Given the description of an element on the screen output the (x, y) to click on. 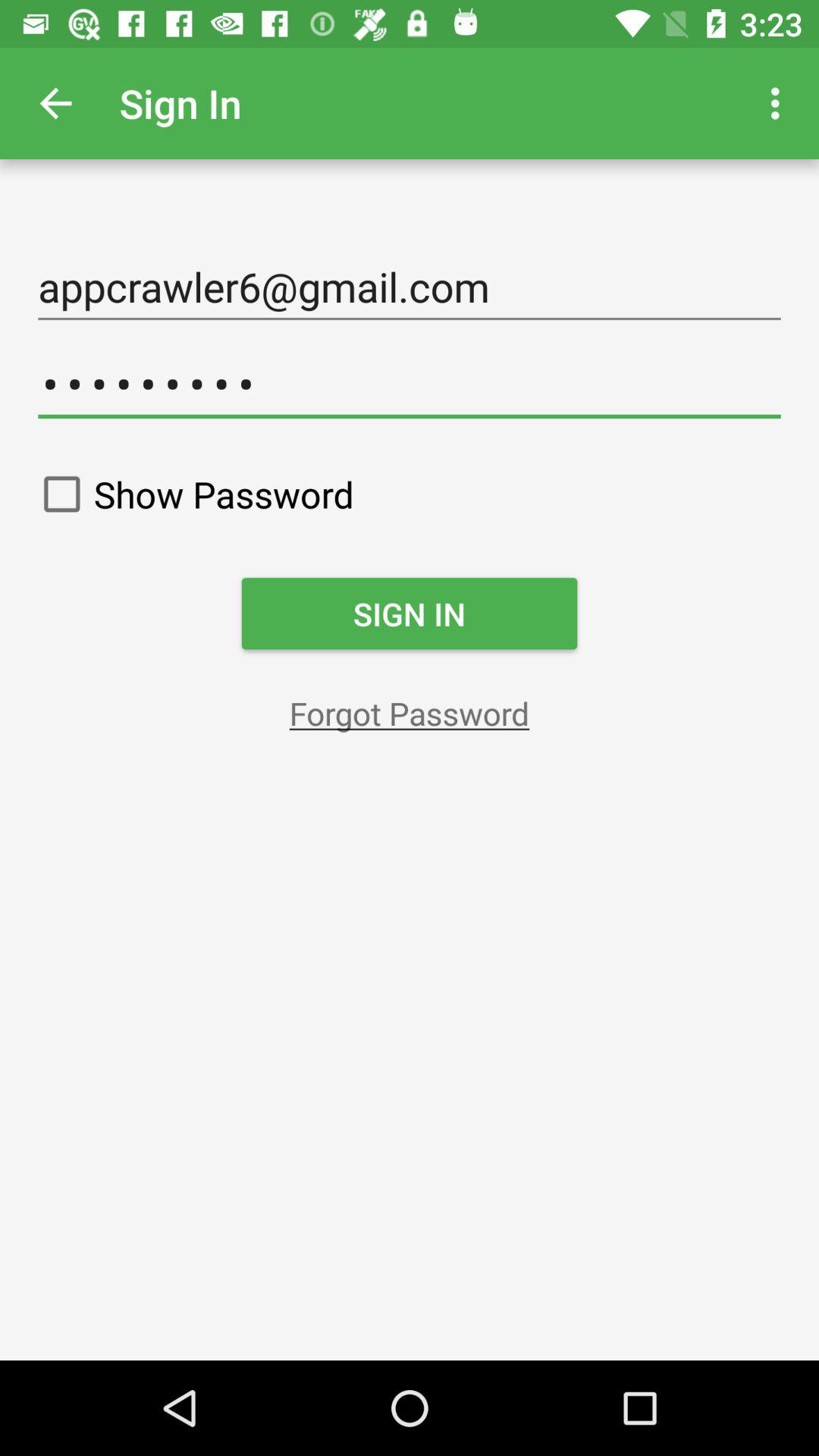
swipe to the forgot password icon (409, 712)
